Given the description of an element on the screen output the (x, y) to click on. 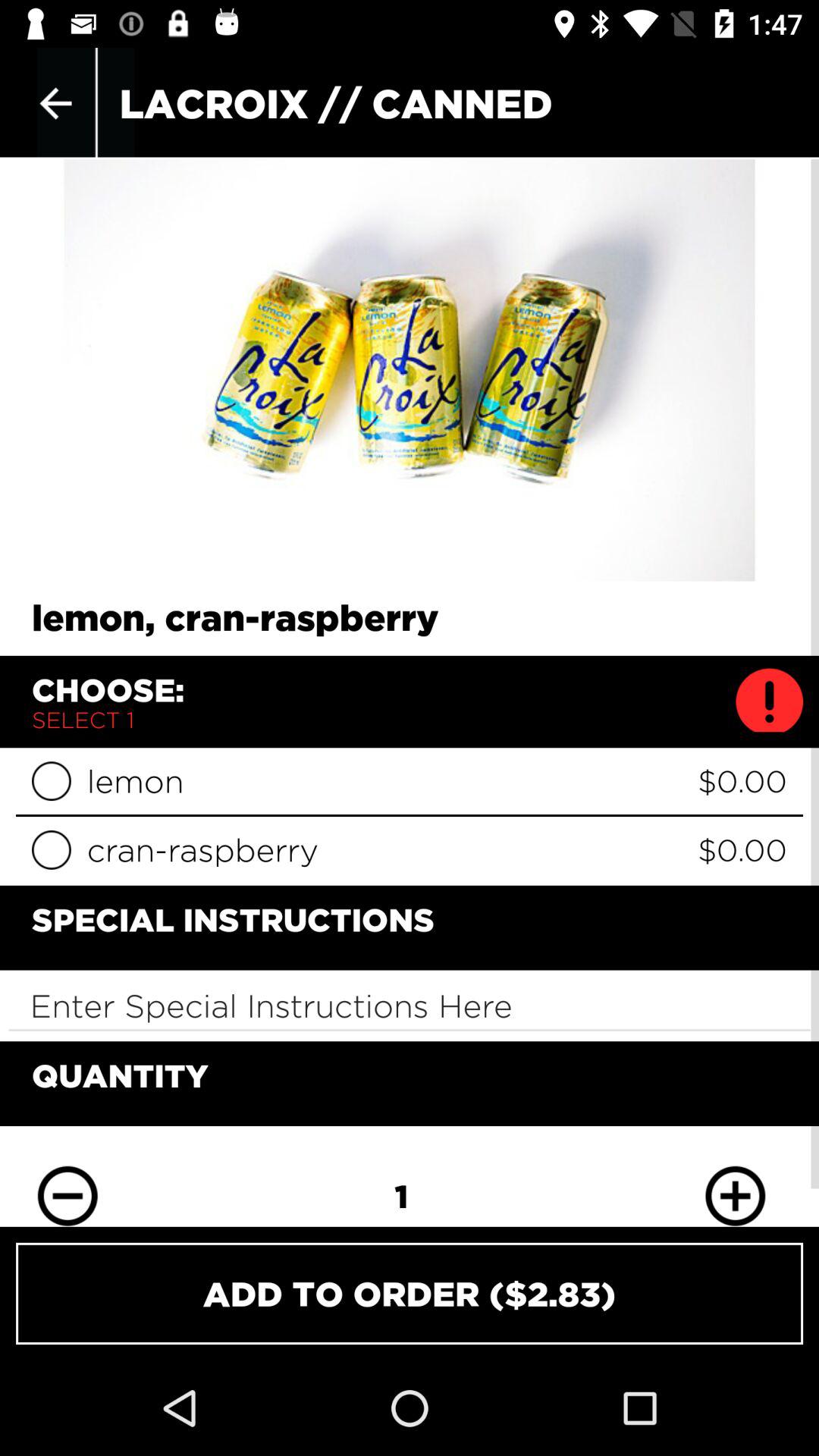
trigger selection (51, 780)
